Given the description of an element on the screen output the (x, y) to click on. 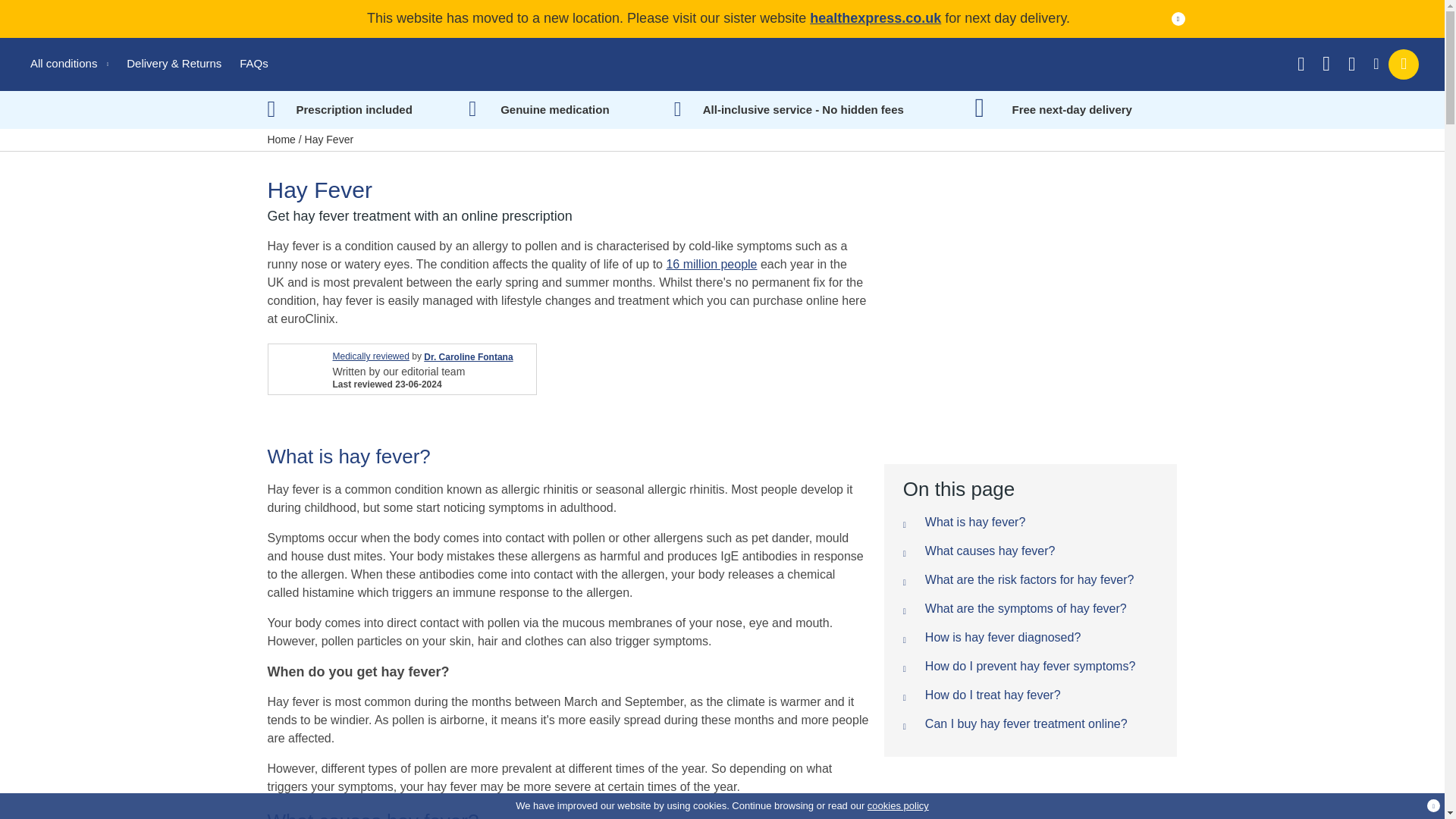
FAQs (253, 62)
healthexpress.co.uk (874, 17)
All conditions (68, 62)
